Given the description of an element on the screen output the (x, y) to click on. 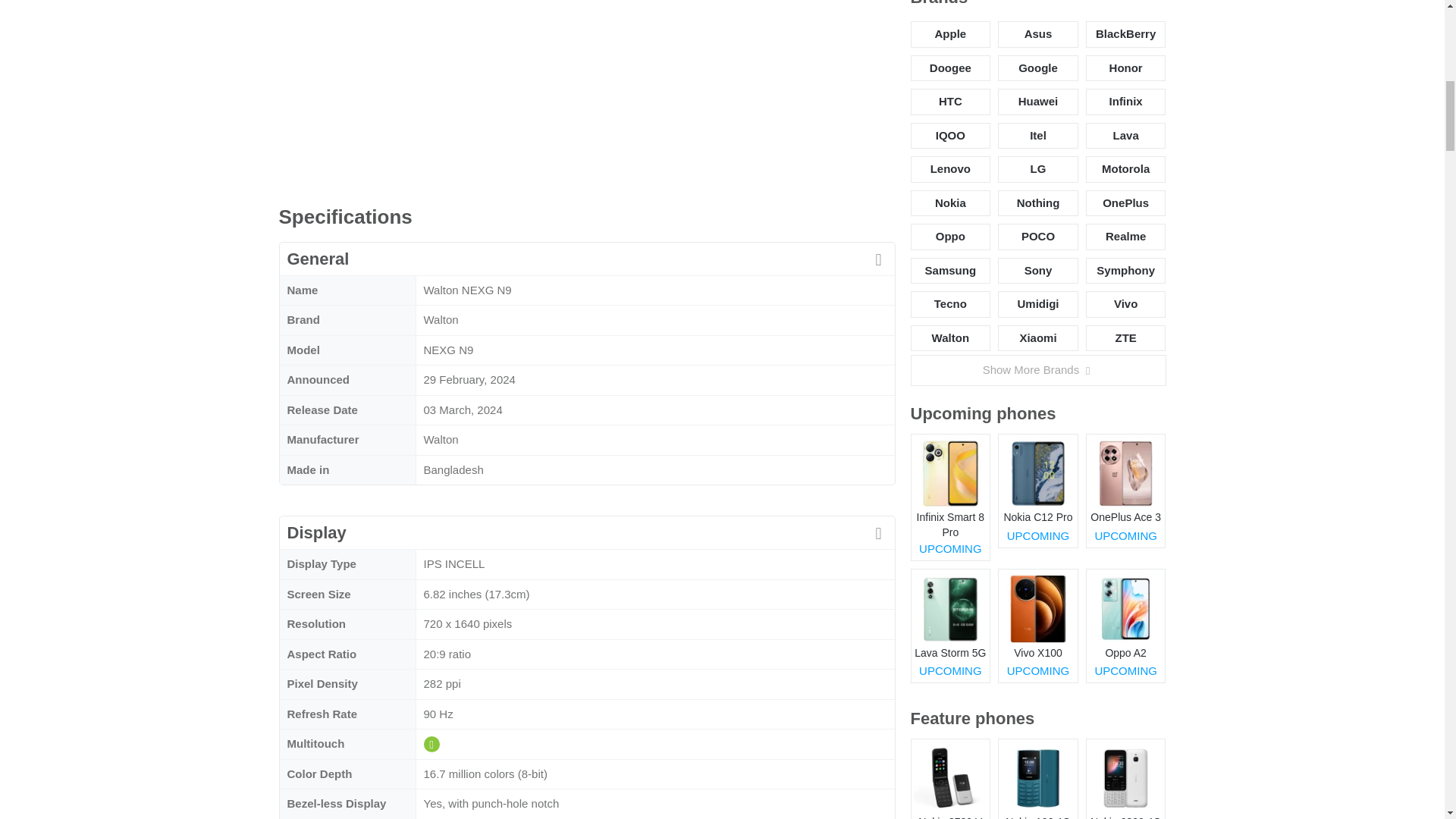
Advertisement (587, 93)
